Given the description of an element on the screen output the (x, y) to click on. 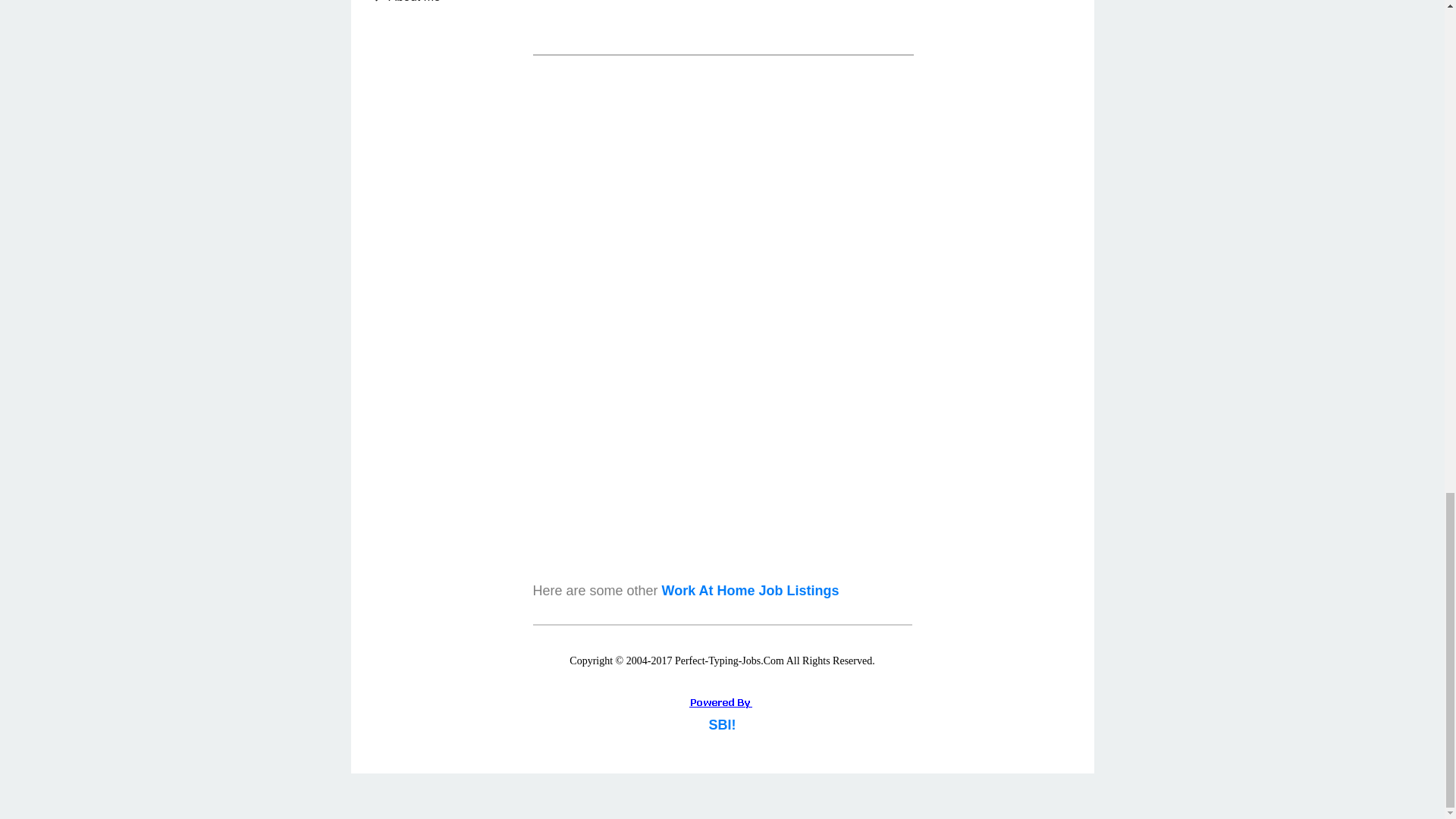
Work At Home Job Listings (751, 590)
About me (445, 4)
more work at home job listings here (751, 590)
SBI! (721, 724)
